Given the description of an element on the screen output the (x, y) to click on. 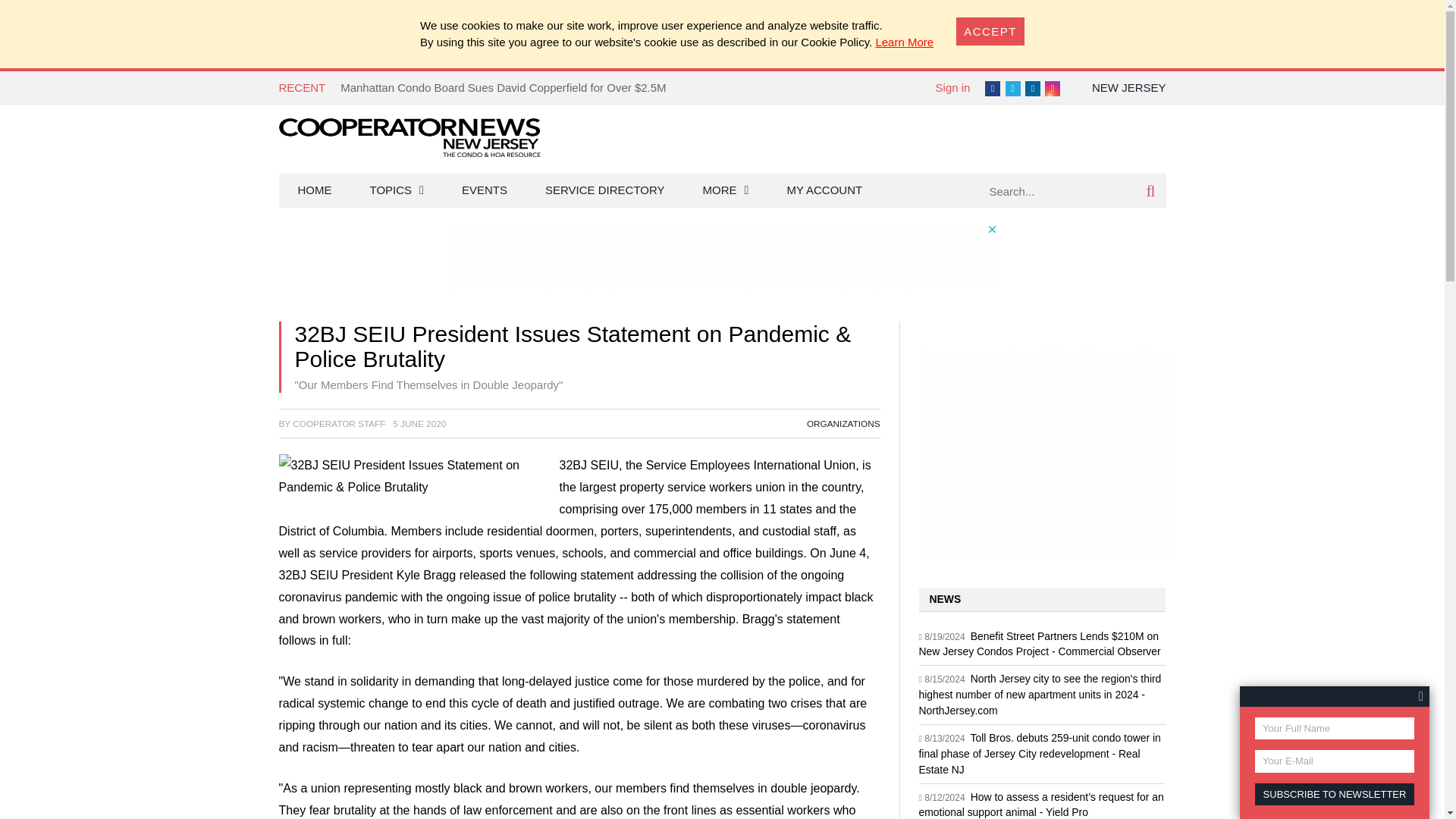
NEW JERSEY (1129, 87)
Instagram (1052, 88)
Instagram (1052, 88)
HOME (314, 190)
Subscribe to Newsletter (1334, 793)
Learn More (904, 42)
Twitter (1013, 88)
TOPICS (396, 190)
LinkedIn (1033, 88)
Facebook (992, 88)
